Given the description of an element on the screen output the (x, y) to click on. 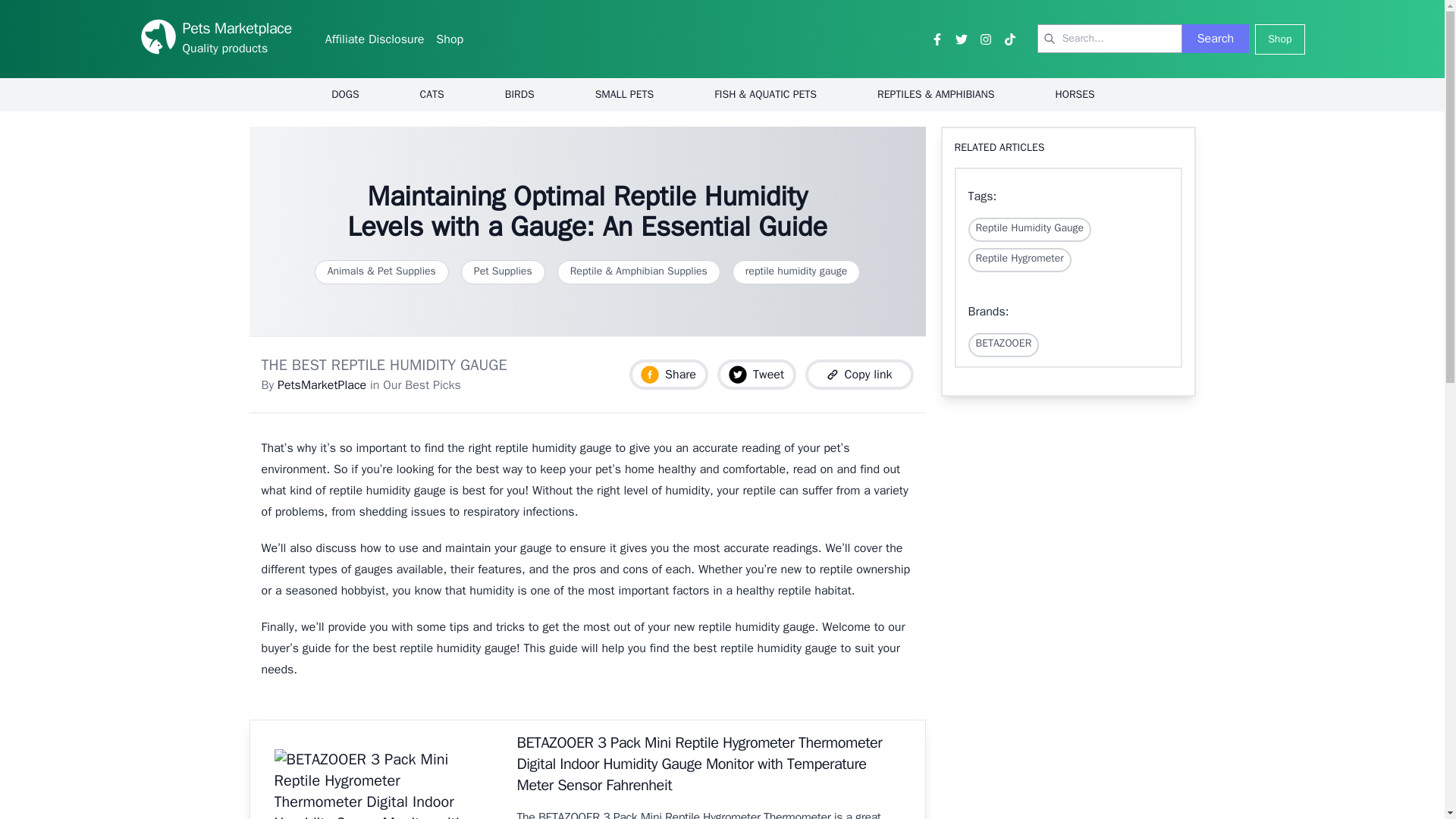
Our Best Picks (421, 385)
reptile humidity gauge (796, 272)
Shop (1279, 38)
Affiliate Disclosure (374, 39)
Tweet (756, 374)
Search (1215, 38)
BIRDS (519, 93)
Pet Supplies (502, 272)
Share (667, 374)
